Given the description of an element on the screen output the (x, y) to click on. 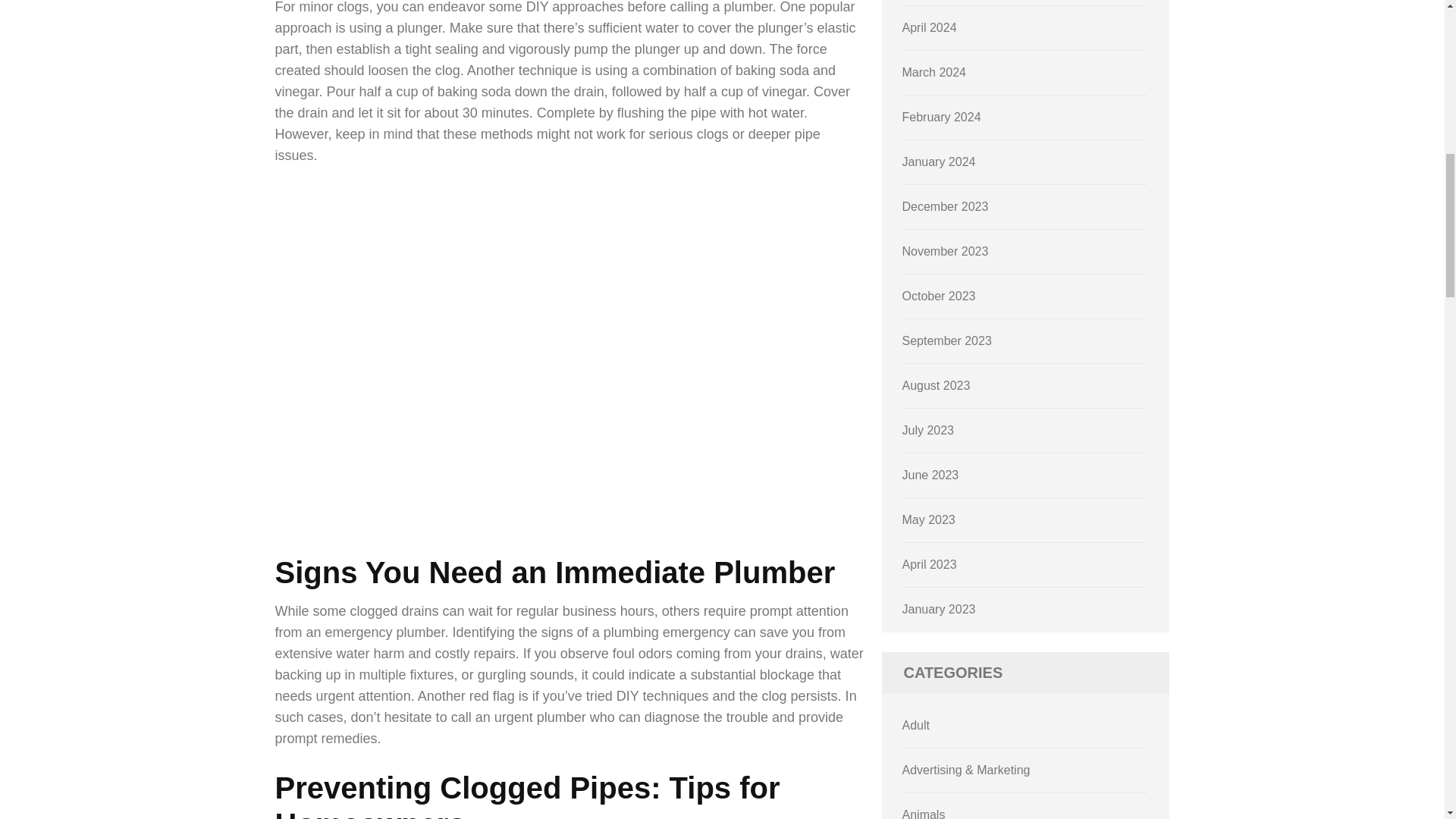
December 2023 (945, 205)
April 2024 (929, 27)
July 2023 (928, 430)
January 2023 (938, 608)
November 2023 (945, 250)
April 2023 (929, 563)
May 2023 (928, 519)
March 2024 (934, 72)
January 2024 (938, 161)
February 2024 (941, 116)
October 2023 (938, 295)
June 2023 (930, 474)
September 2023 (946, 340)
August 2023 (936, 385)
